Given the description of an element on the screen output the (x, y) to click on. 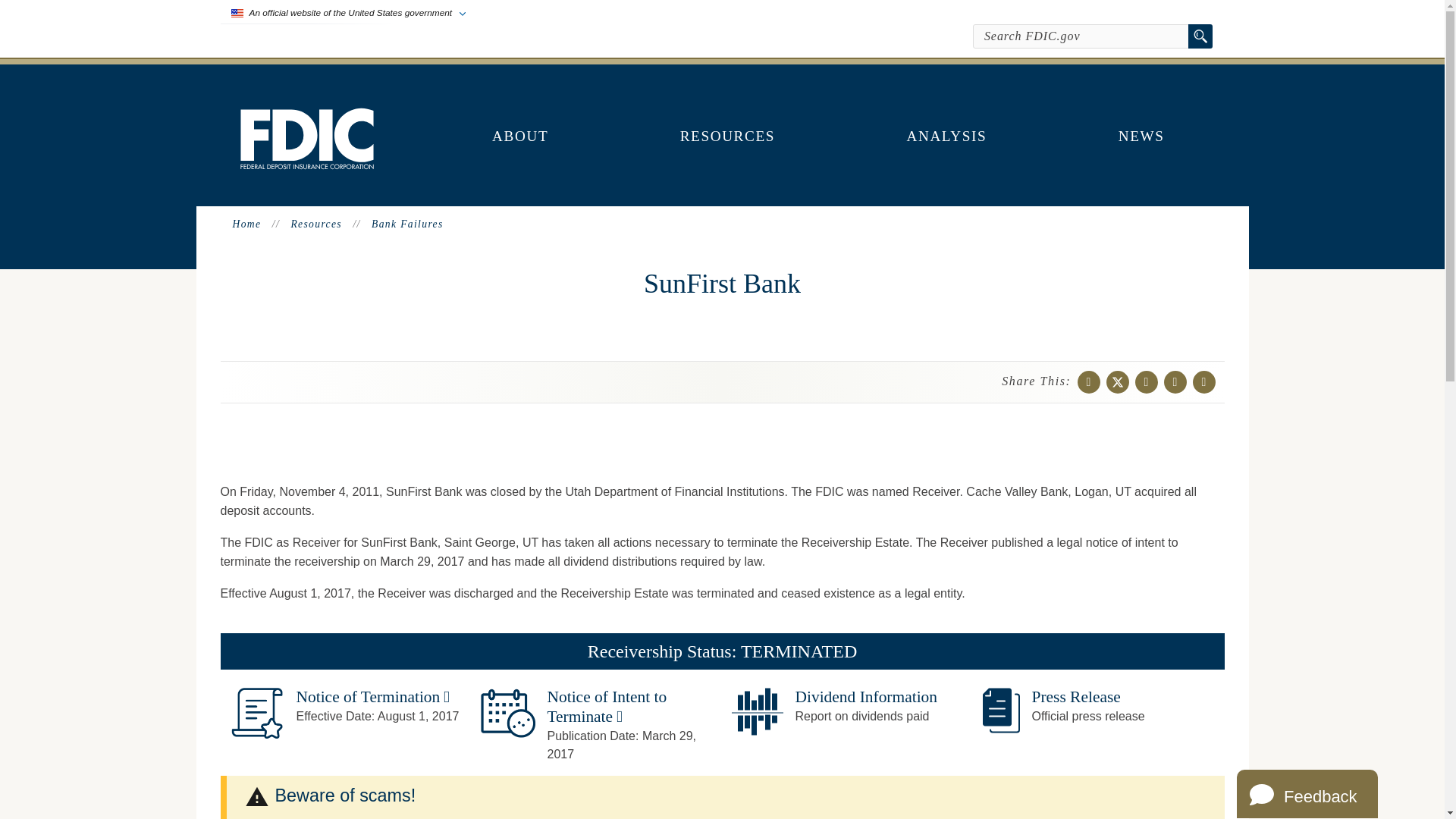
Home (306, 165)
ABOUT (520, 136)
Search FDIC.gov (1080, 36)
Search FDIC.gov (1080, 36)
RESOURCES (727, 136)
